Given the description of an element on the screen output the (x, y) to click on. 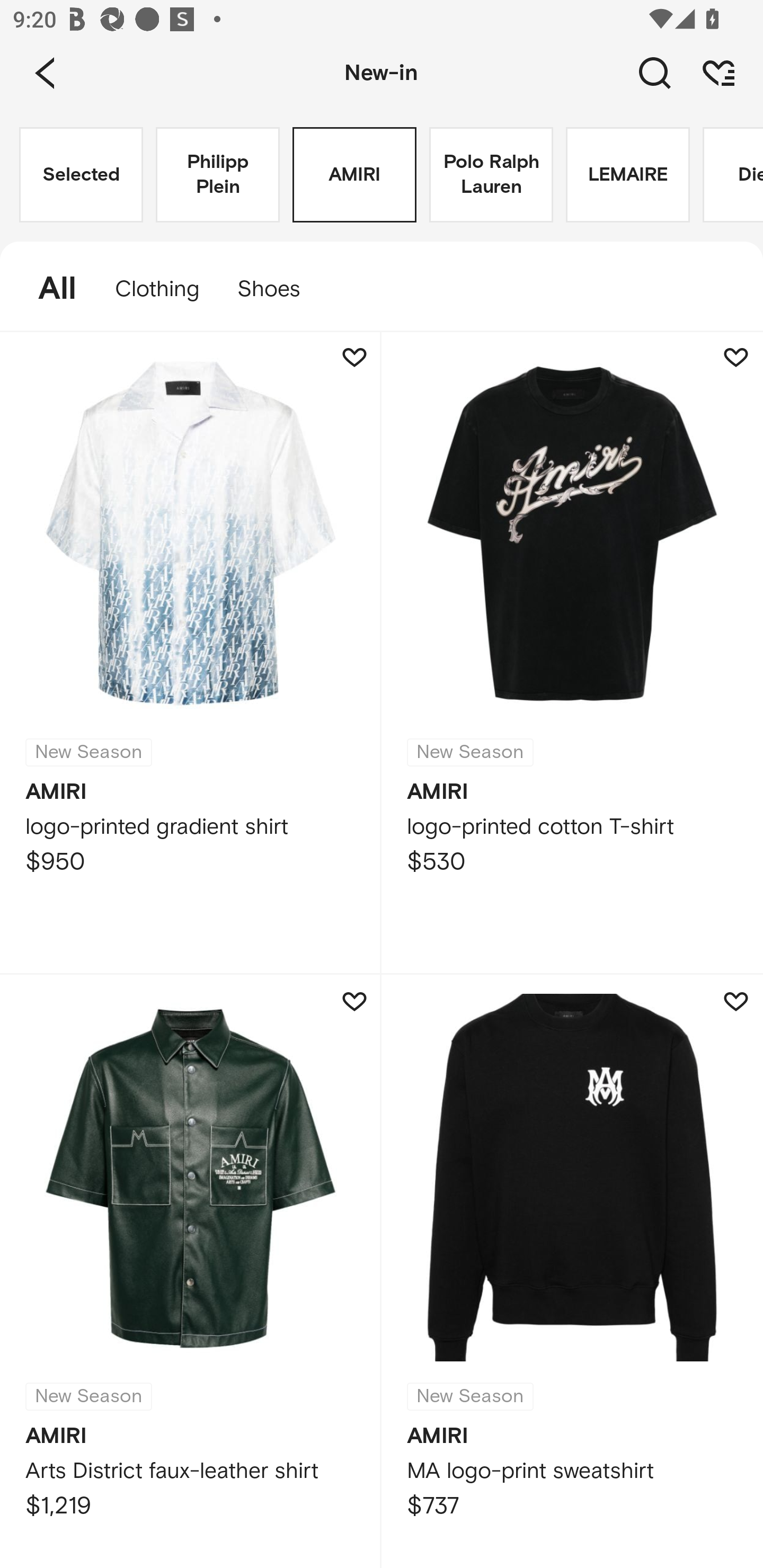
Selected (81, 174)
Philipp Plein (217, 174)
AMIRI (354, 174)
Polo Ralph Lauren (490, 174)
LEMAIRE (627, 174)
All (47, 288)
Clothing (156, 288)
Shoes (278, 288)
New Season AMIRI logo-printed gradient shirt $950 (190, 652)
New Season AMIRI logo-printed cotton T-shirt $530 (572, 652)
New Season AMIRI MA logo-print sweatshirt $737 (572, 1271)
